Given the description of an element on the screen output the (x, y) to click on. 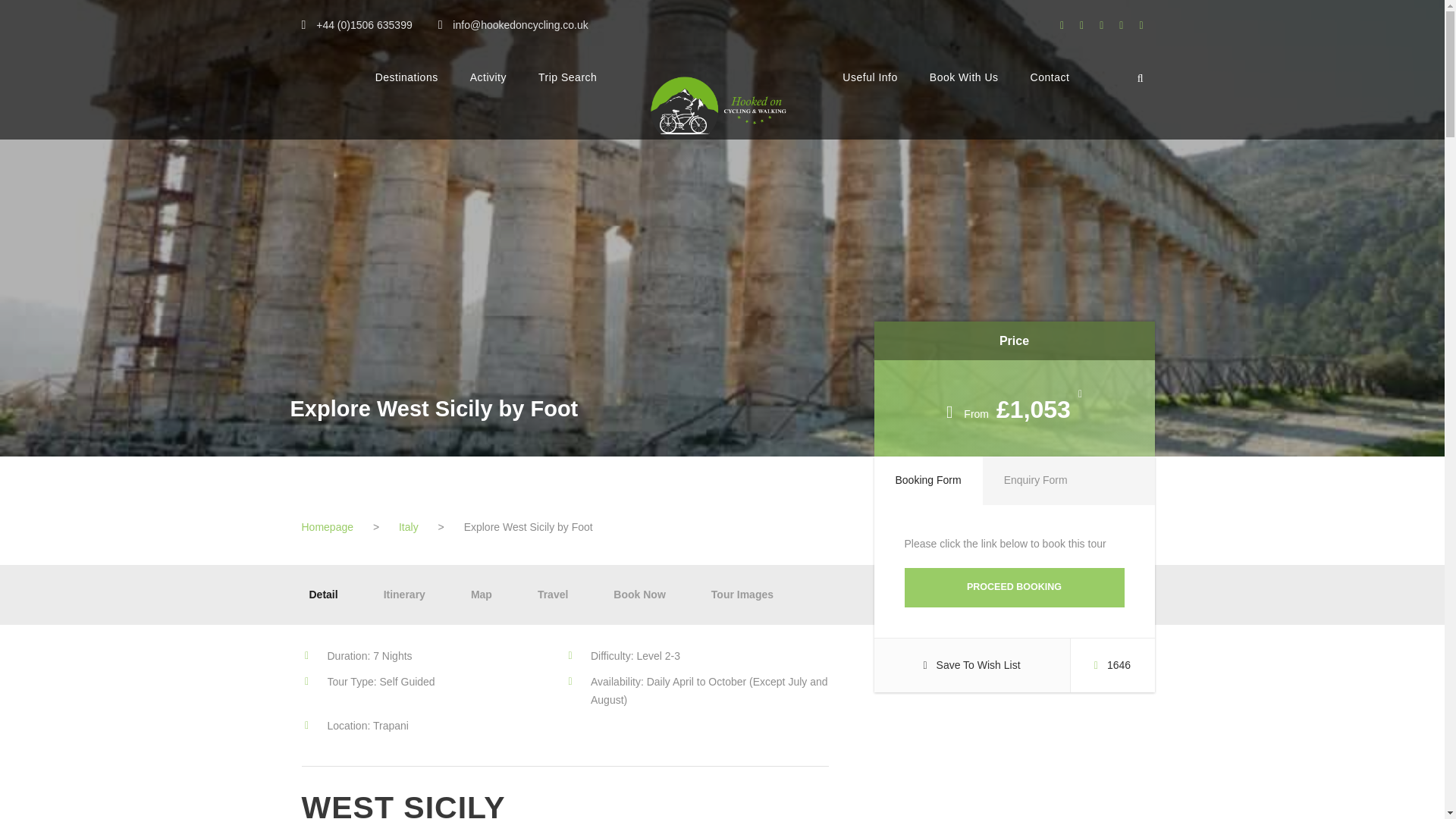
Home (327, 526)
Go to the Italy Destination. (408, 526)
Hooked-On-Logo (718, 103)
